Given the description of an element on the screen output the (x, y) to click on. 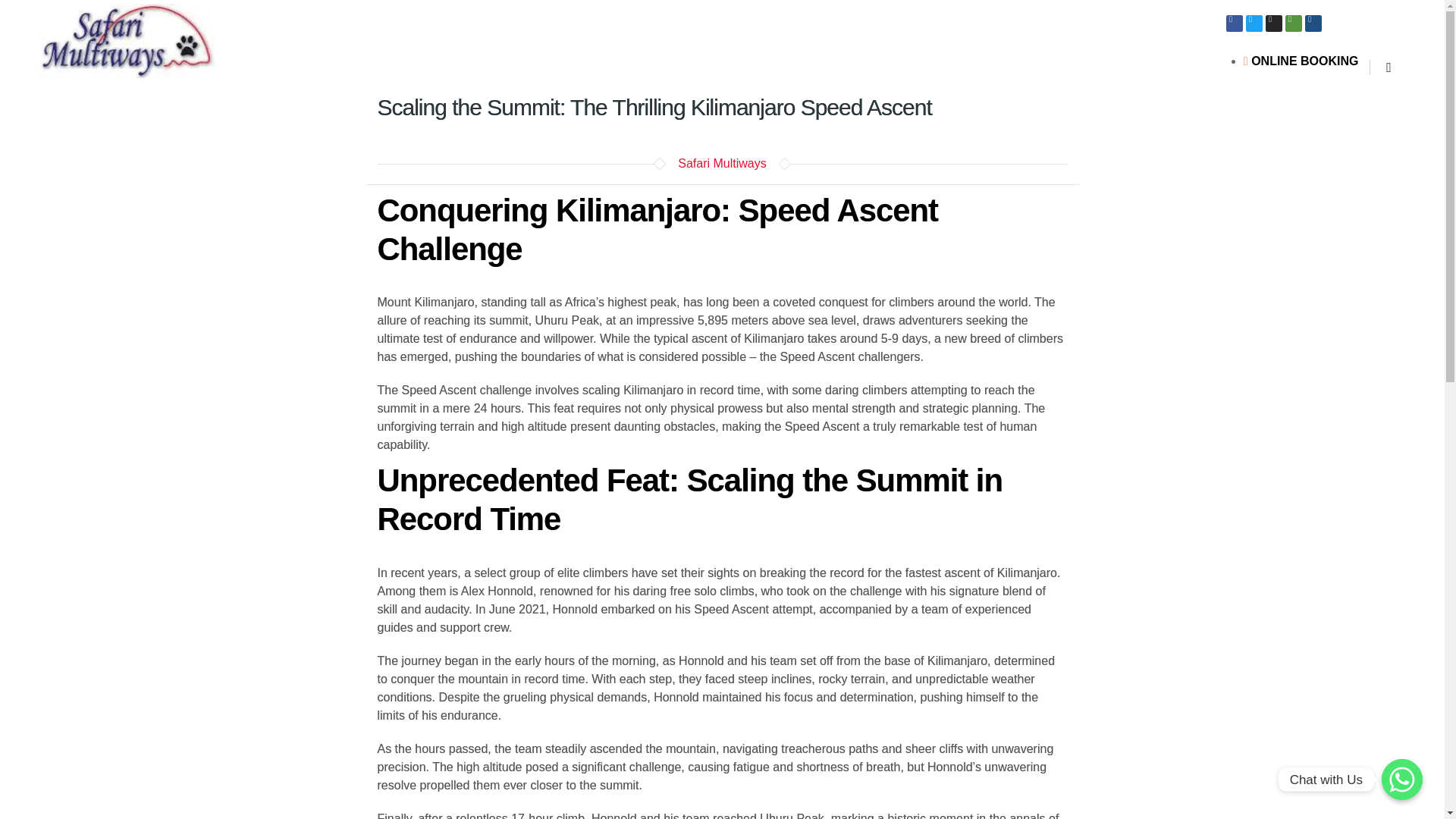
ONLINE BOOKING (1300, 60)
Safari Multiways (721, 163)
